Given the description of an element on the screen output the (x, y) to click on. 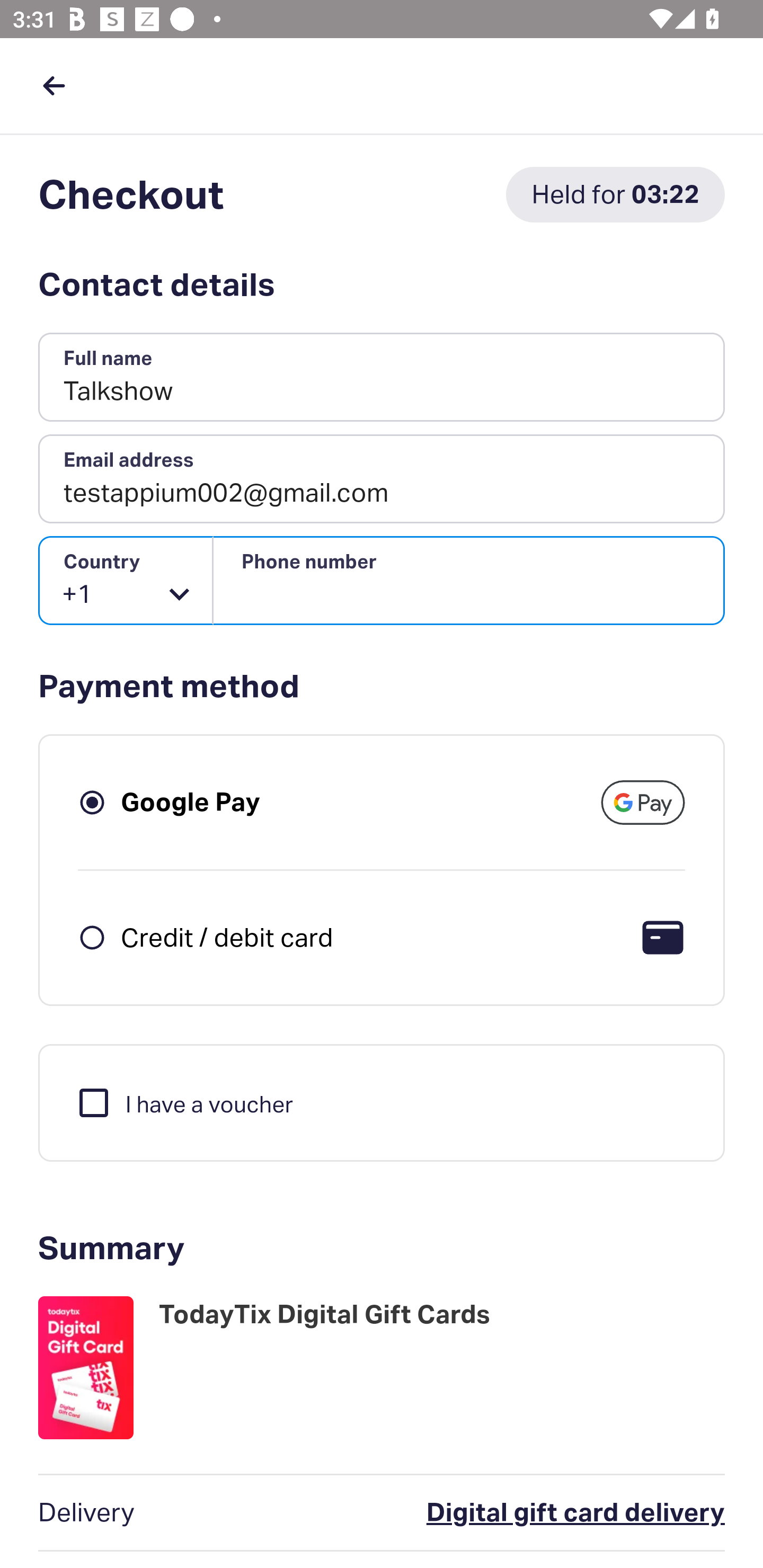
back button (53, 85)
Talkshow (381, 377)
testappium002@gmail.com (381, 478)
  +1 (126, 580)
Google Pay (190, 802)
Credit / debit card (227, 936)
I have a voucher (183, 1101)
Digital gift card delivery (495, 1512)
